Given the description of an element on the screen output the (x, y) to click on. 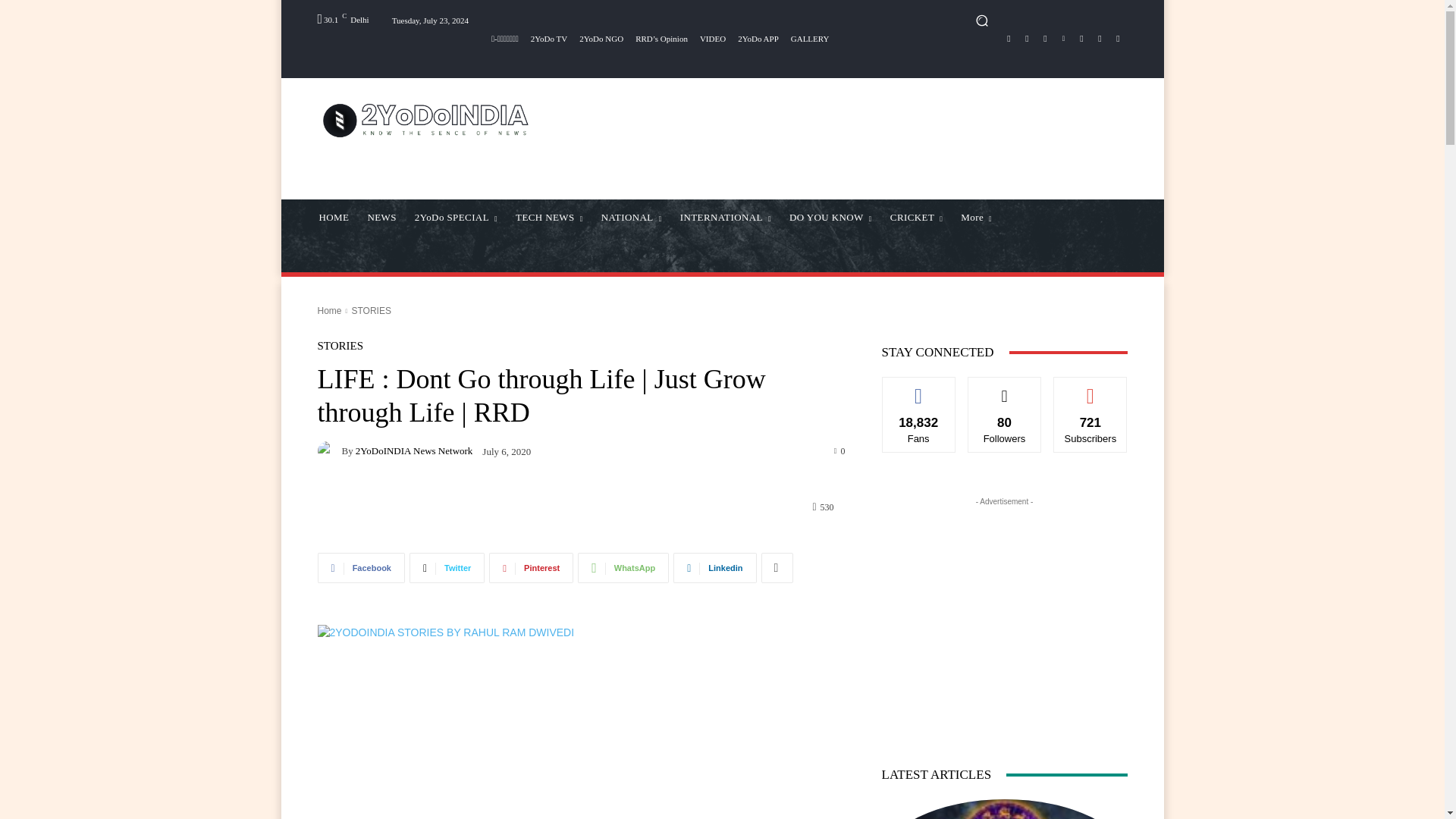
Facebook (1007, 38)
